Given the description of an element on the screen output the (x, y) to click on. 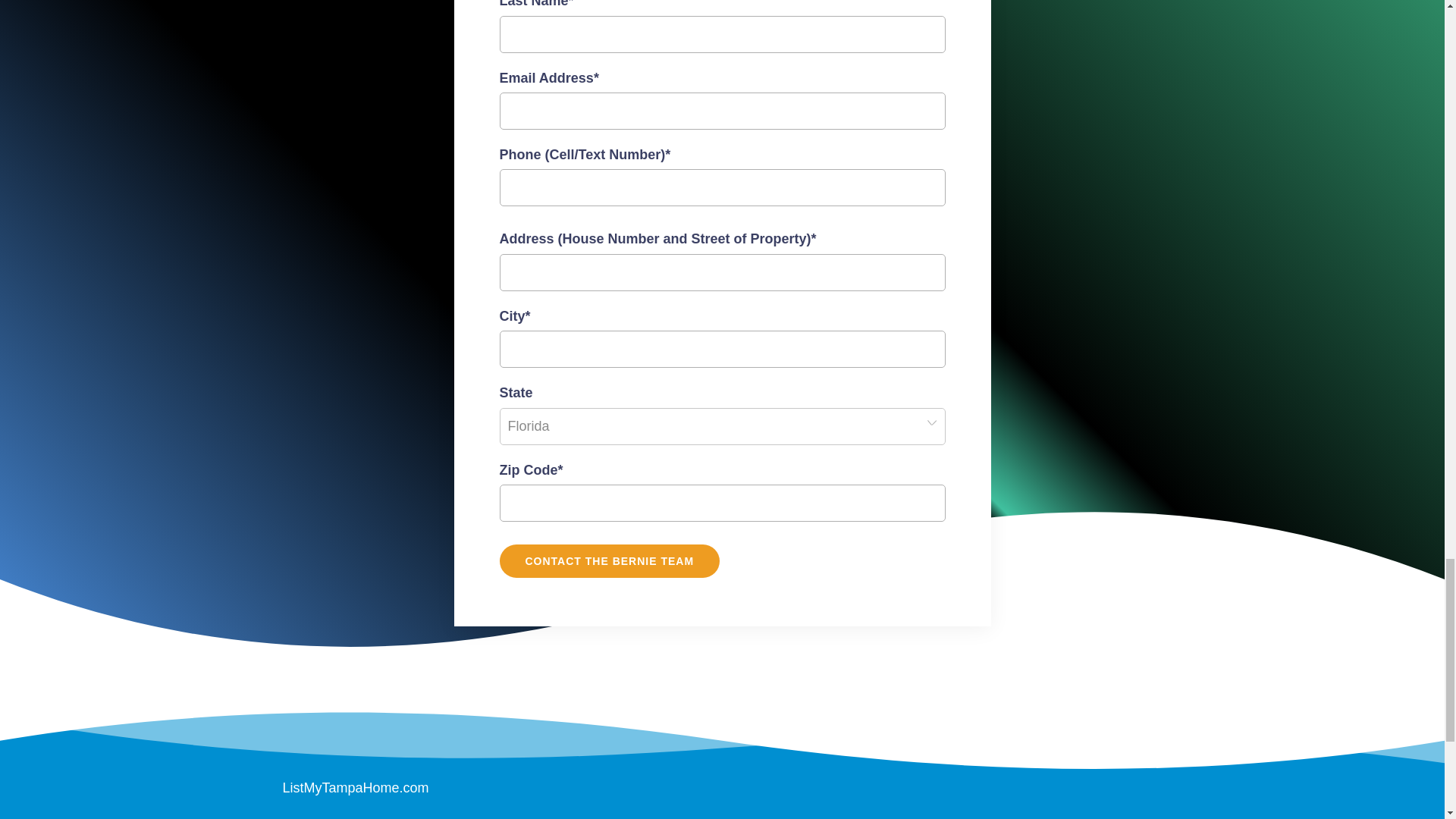
ListMyTampaHome.com (355, 787)
CONTACT THE BERNIE TEAM (609, 561)
CONTACT THE BERNIE TEAM (609, 561)
ListMyTampaHome.com (355, 787)
